Given the description of an element on the screen output the (x, y) to click on. 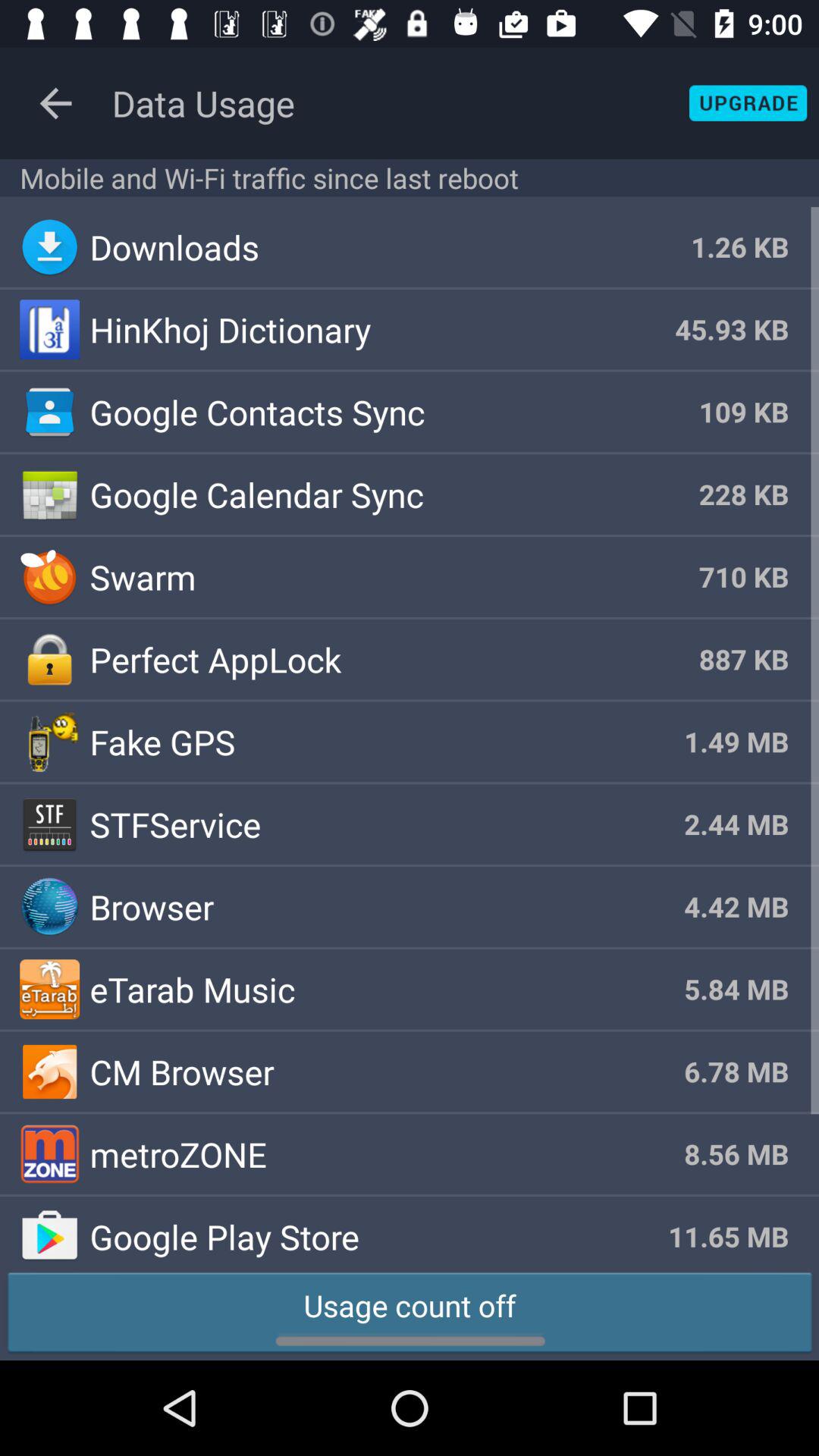
go to back (55, 103)
